Given the description of an element on the screen output the (x, y) to click on. 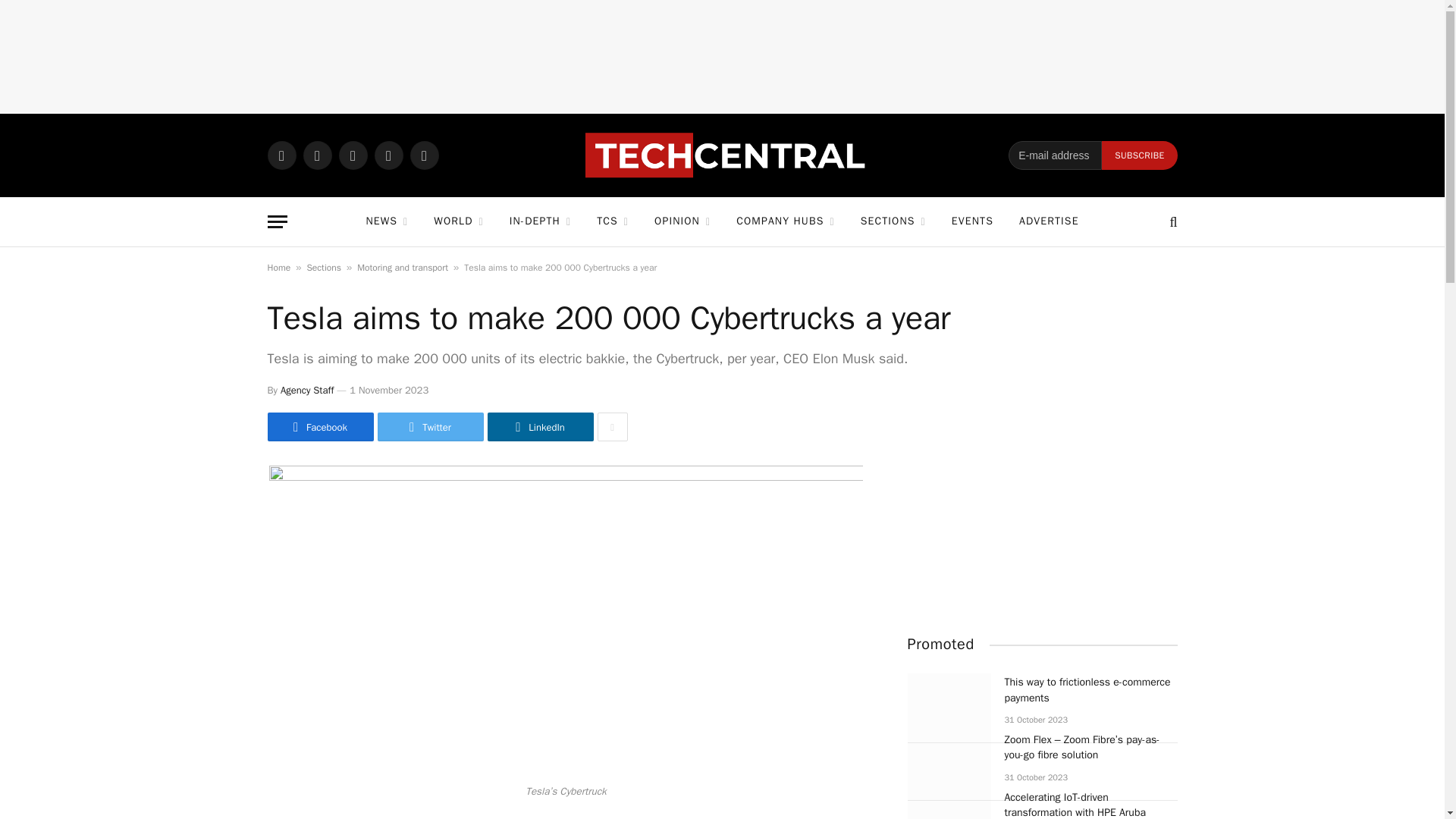
NEWS (386, 221)
Facebook (316, 154)
YouTube (423, 154)
TechCentral (728, 155)
WhatsApp (280, 154)
WORLD (458, 221)
Subscribe (1139, 154)
Subscribe (1139, 154)
IN-DEPTH (539, 221)
LinkedIn (388, 154)
